Given the description of an element on the screen output the (x, y) to click on. 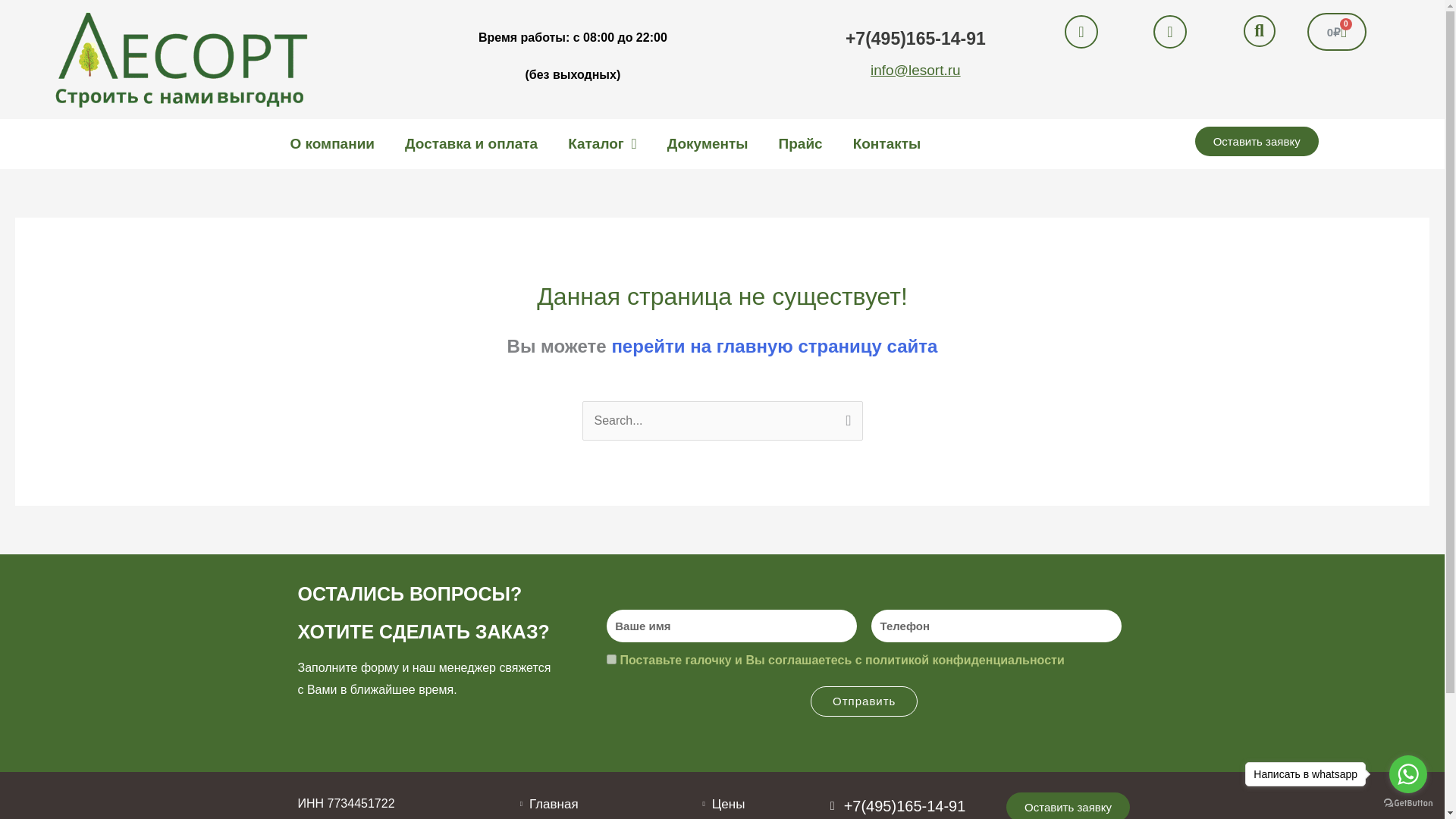
on (611, 659)
